Given the description of an element on the screen output the (x, y) to click on. 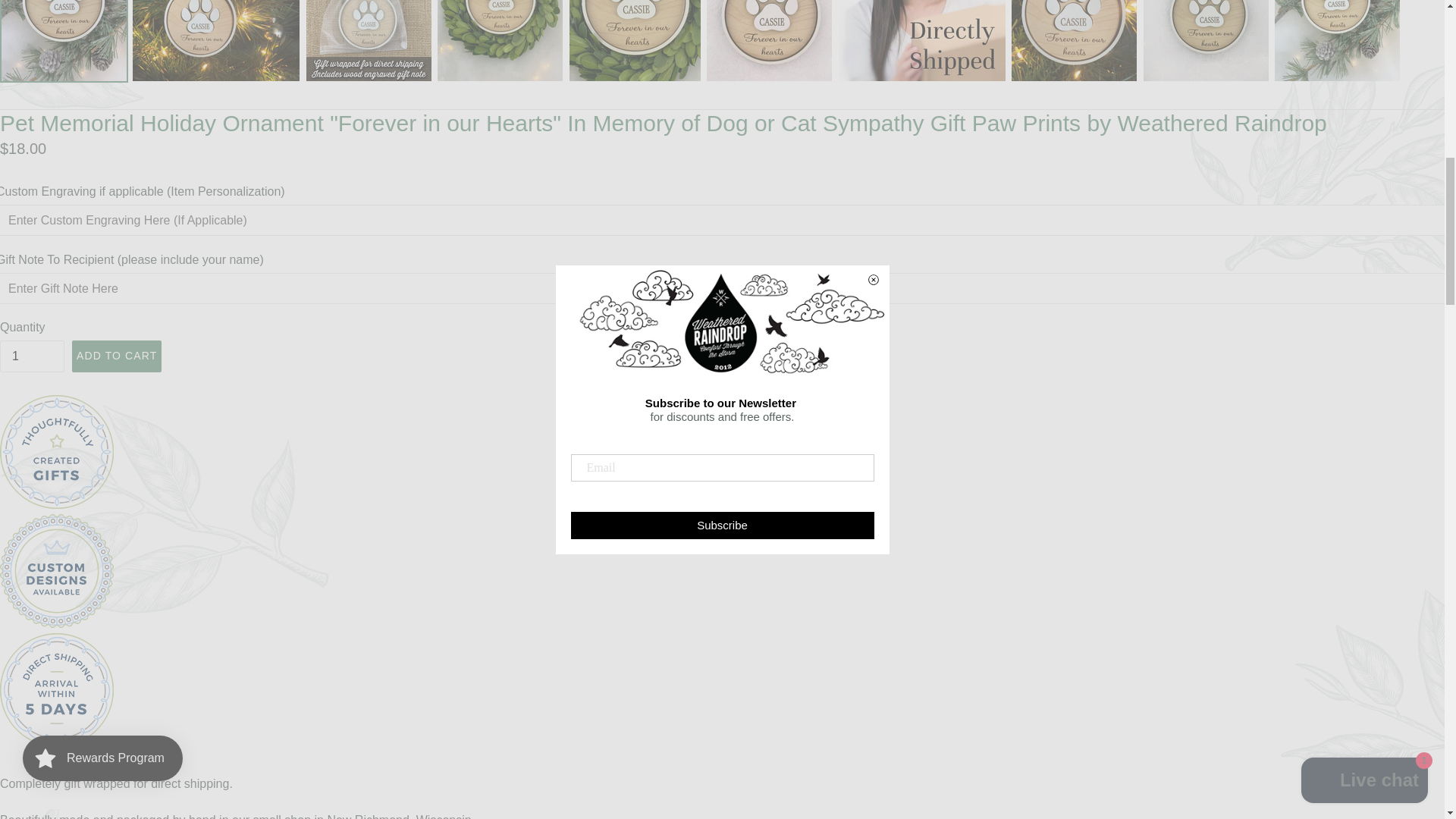
1 (32, 355)
